Given the description of an element on the screen output the (x, y) to click on. 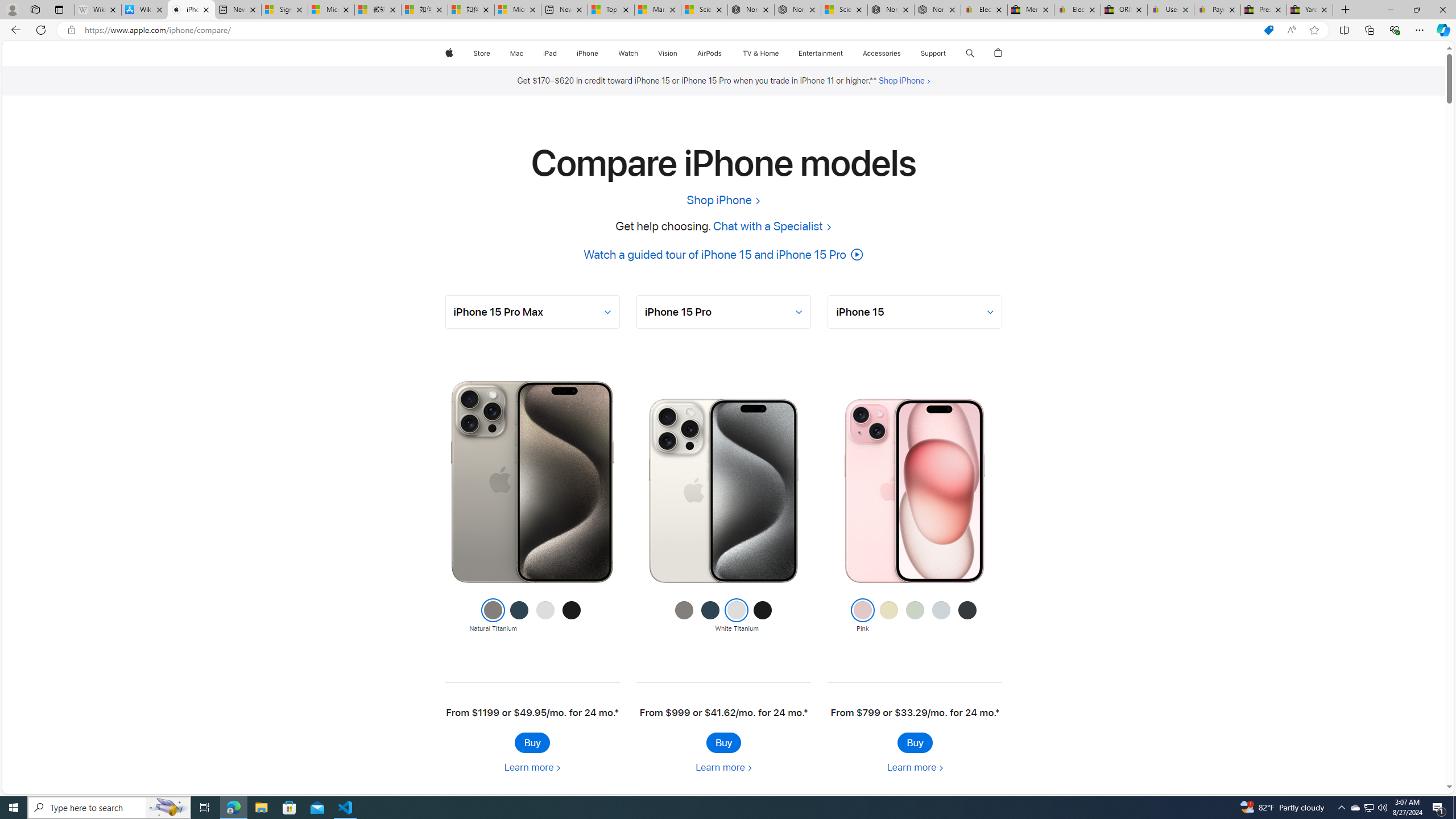
Accessories (881, 53)
Shopping Bag (998, 53)
Entertainment menu (844, 53)
